Given the description of an element on the screen output the (x, y) to click on. 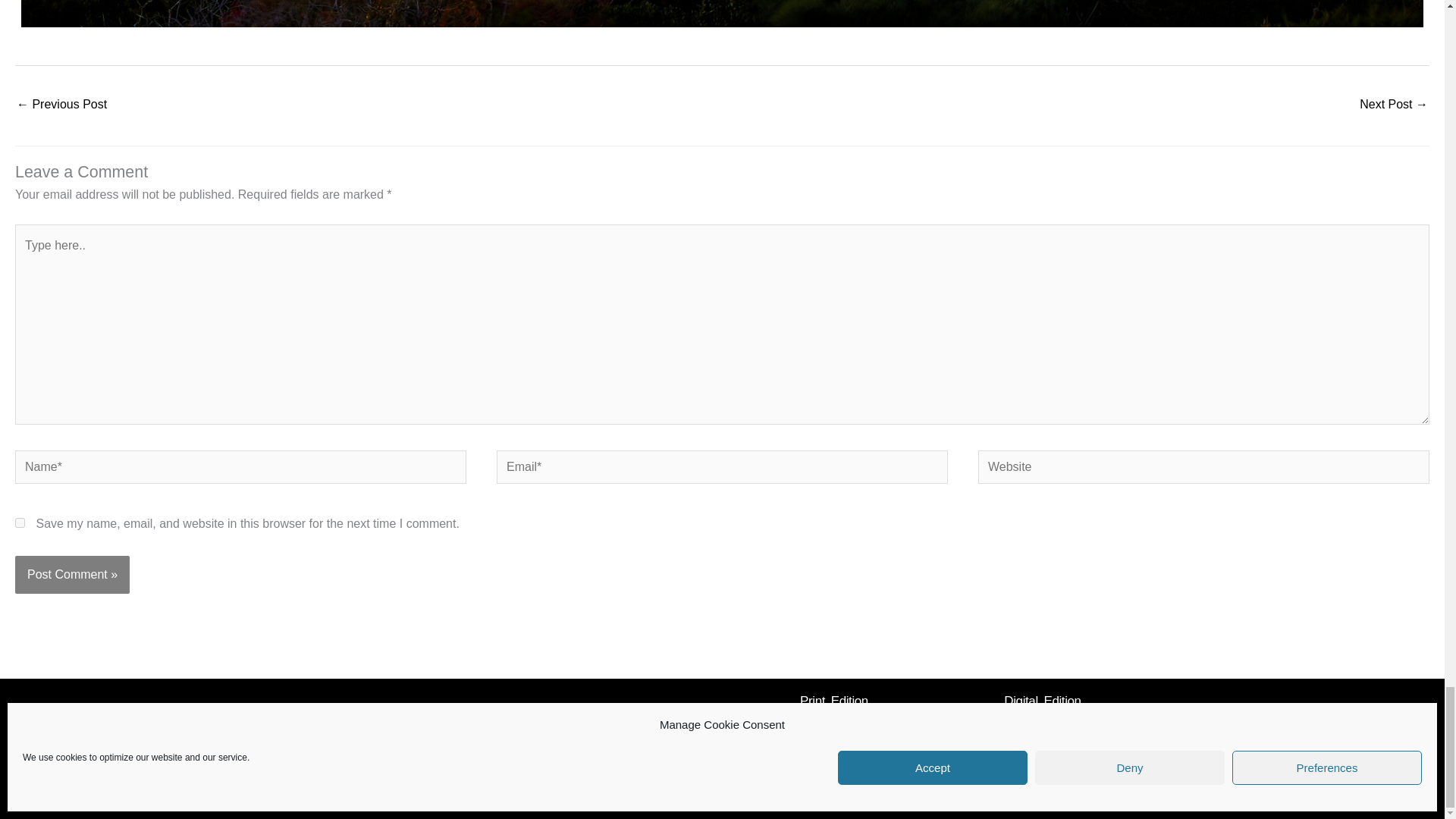
Home (872, 791)
SUBSCRIBE (834, 726)
Linkedin (468, 723)
Instagram (370, 723)
SUBSCRIBE (1042, 726)
Terms of Use (1022, 791)
Contact (1092, 791)
Youtube (418, 723)
Lunch by Helicopter at Gstaad Palace (61, 105)
Twitter (517, 723)
Page 1 (722, 13)
yes (19, 522)
Facebook (319, 723)
Privacy Policy (939, 791)
